Given the description of an element on the screen output the (x, y) to click on. 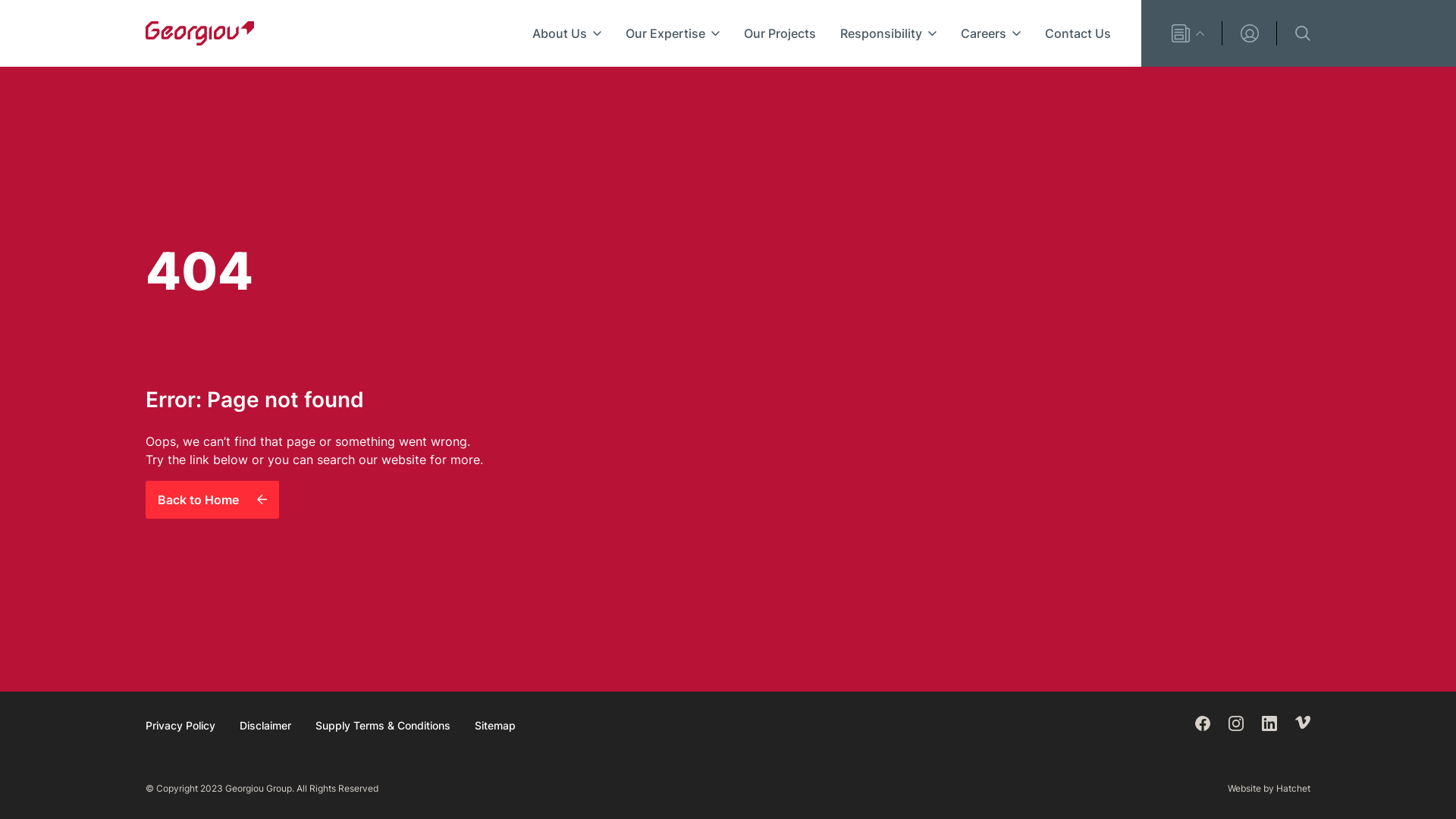
Our Projects Element type: text (779, 33)
Back to Home Element type: text (212, 499)
Disclaimer Element type: text (265, 724)
Hatchet Element type: text (1293, 787)
Our Expertise Element type: text (672, 33)
Responsibility Element type: text (888, 33)
Privacy Policy Element type: text (180, 724)
Sitemap Element type: text (494, 724)
About Us Element type: text (566, 33)
Careers Element type: text (990, 33)
Supply Terms & Conditions Element type: text (382, 724)
Contact Us Element type: text (1077, 33)
